Given the description of an element on the screen output the (x, y) to click on. 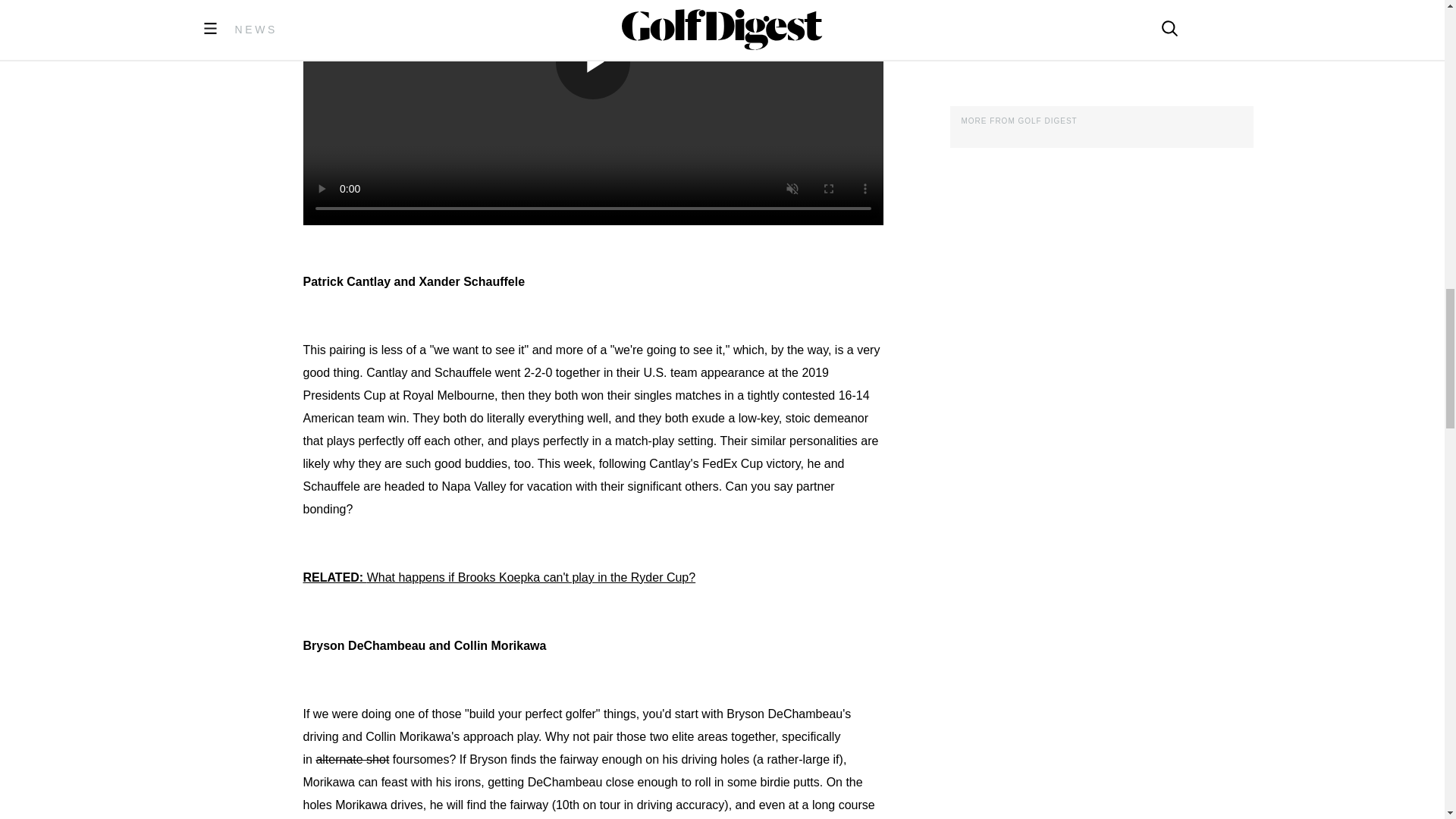
Play Video (593, 62)
